Given the description of an element on the screen output the (x, y) to click on. 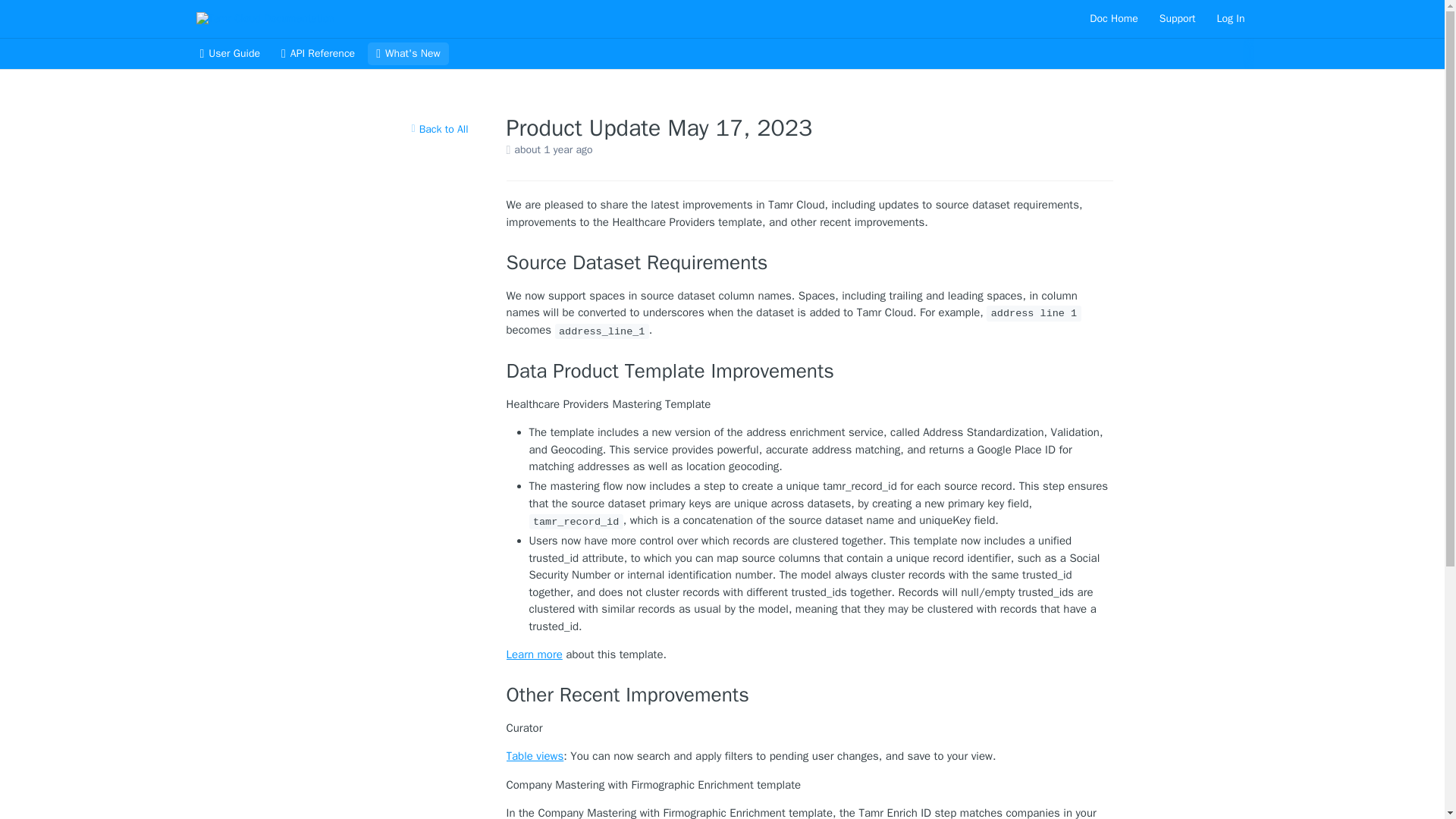
Log In (1230, 18)
What's New (408, 53)
API Reference (317, 53)
Data Product Template Improvements (809, 371)
Doc Home (1113, 18)
Support (1177, 18)
Source Dataset Requirements (809, 263)
Learn more (534, 653)
User Guide (228, 53)
Back to All (439, 128)
Other Recent Improvements (809, 695)
Table views (535, 755)
